Given the description of an element on the screen output the (x, y) to click on. 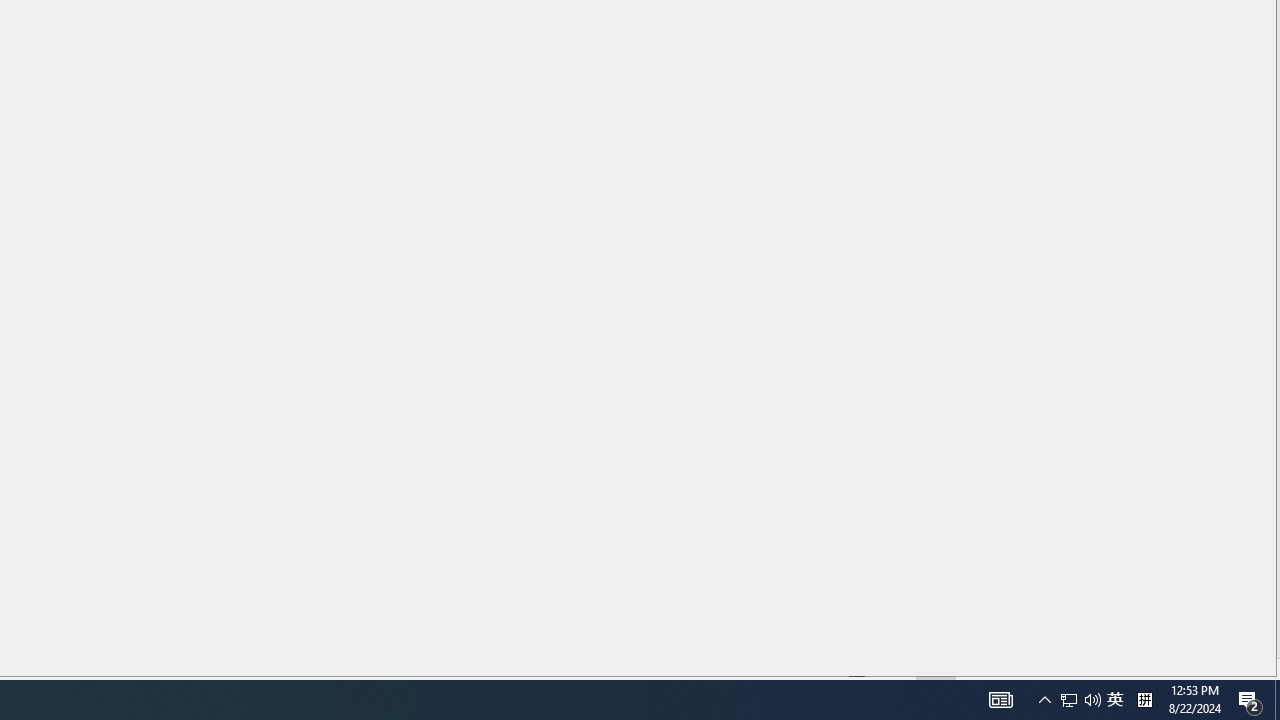
Zoom 150% (1234, 668)
Design Idea (1124, 587)
